Given the description of an element on the screen output the (x, y) to click on. 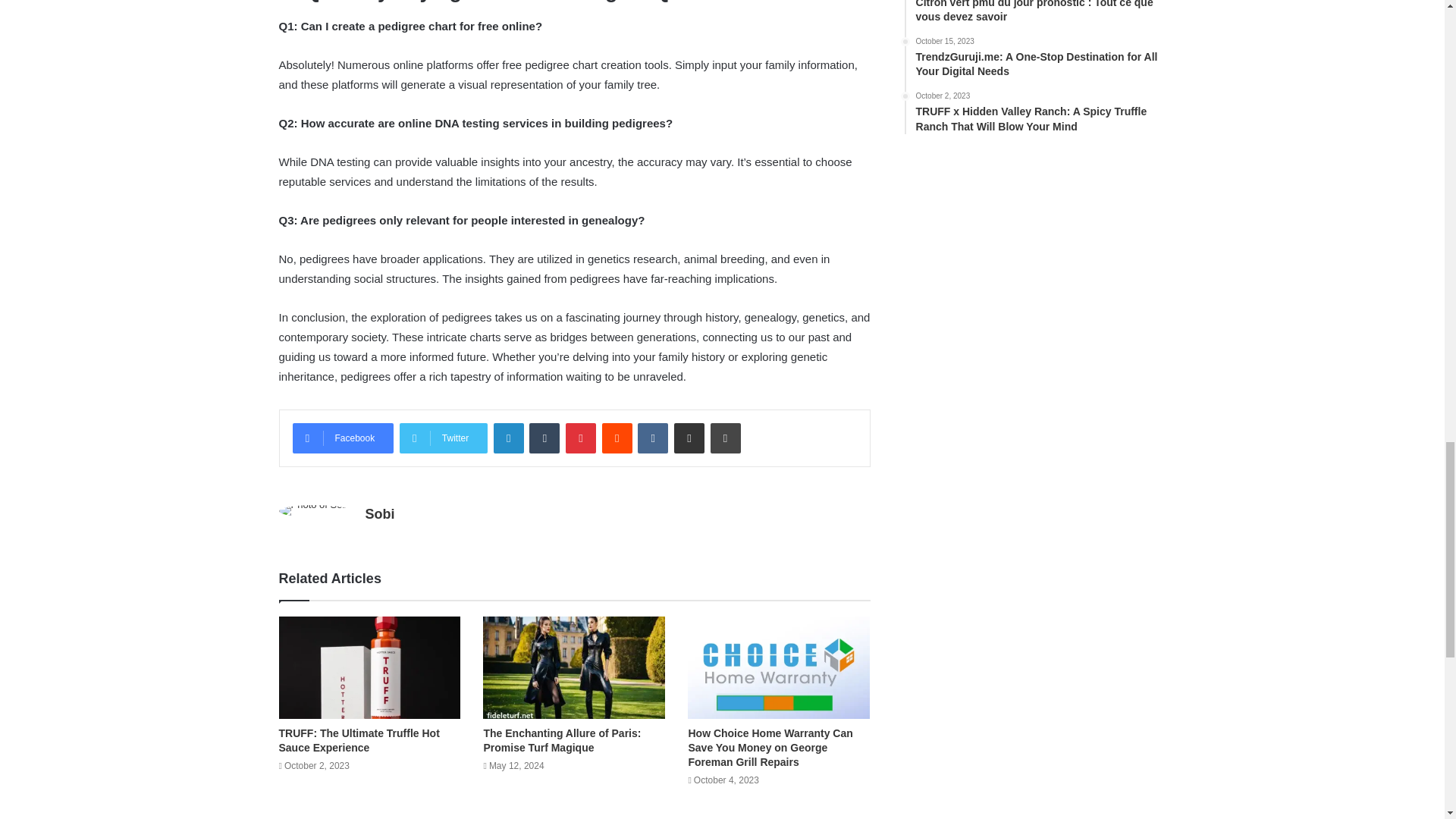
Twitter (442, 438)
LinkedIn (508, 438)
Share via Email (689, 438)
Tumblr (544, 438)
The Enchanting Allure of Paris: Promise Turf Magique (561, 740)
TRUFF: The Ultimate Truffle Hot Sauce Experience (359, 740)
Facebook (343, 438)
Pinterest (580, 438)
VKontakte (652, 438)
Facebook (343, 438)
Print (725, 438)
Share via Email (689, 438)
Pinterest (580, 438)
Print (725, 438)
